Given the description of an element on the screen output the (x, y) to click on. 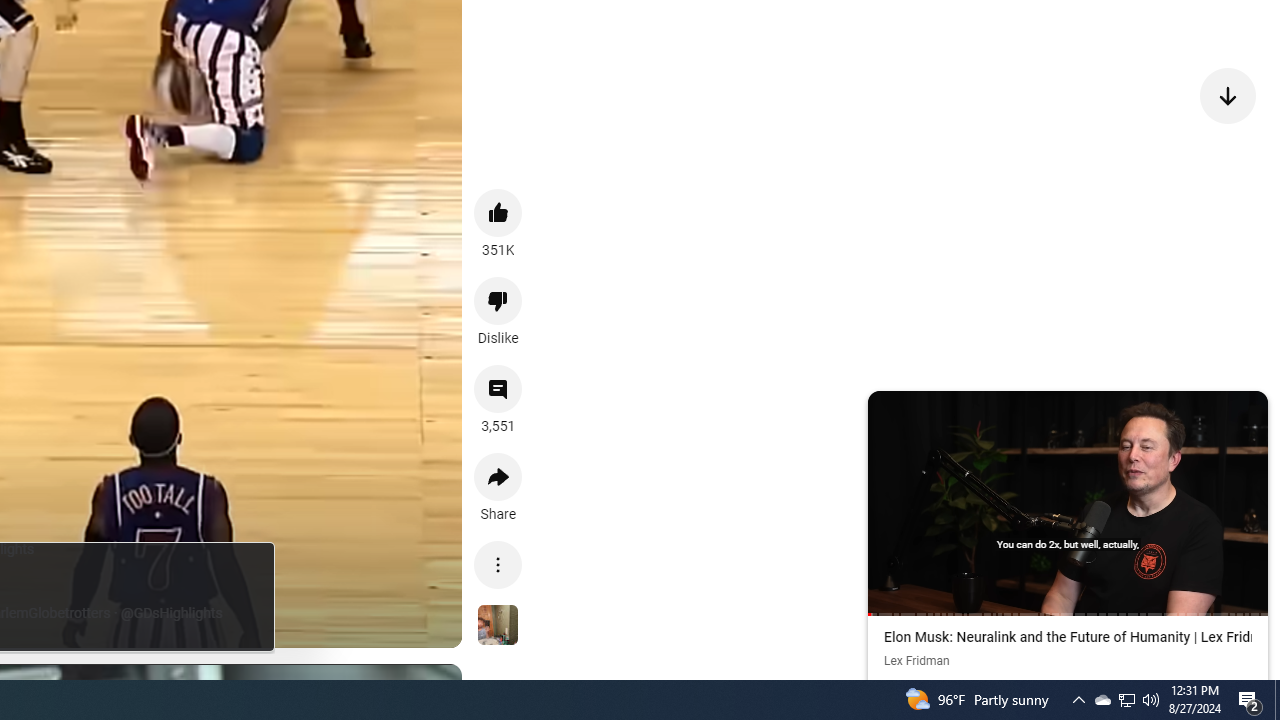
Seek slider (1067, 614)
See more videos using this sound (497, 626)
Share (498, 476)
Dislike this video (498, 300)
Pause (k) (1067, 501)
like this video along with 351K other people (498, 212)
Next video (1227, 94)
View 3,551 comments (498, 389)
More actions (498, 564)
Expand (i) (887, 410)
Next (SHIFT+n) (1168, 501)
